Given the description of an element on the screen output the (x, y) to click on. 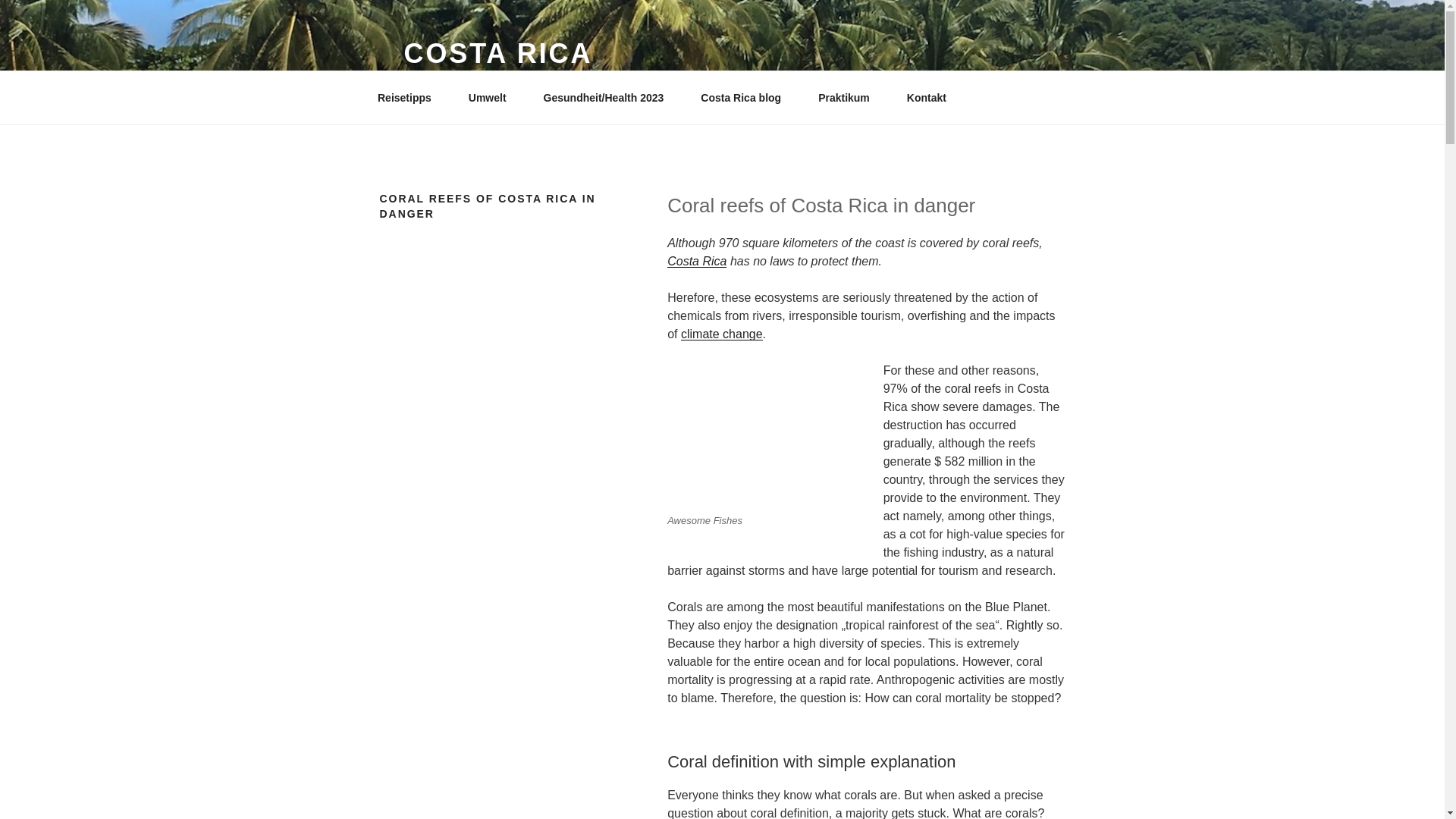
COSTA RICA (497, 52)
Praktikum (849, 97)
Costa Rica (696, 260)
Umwelt (491, 97)
Kontakt (926, 97)
Reisetipps (409, 97)
Costa Rica blog (746, 97)
climate change (721, 333)
